Given the description of an element on the screen output the (x, y) to click on. 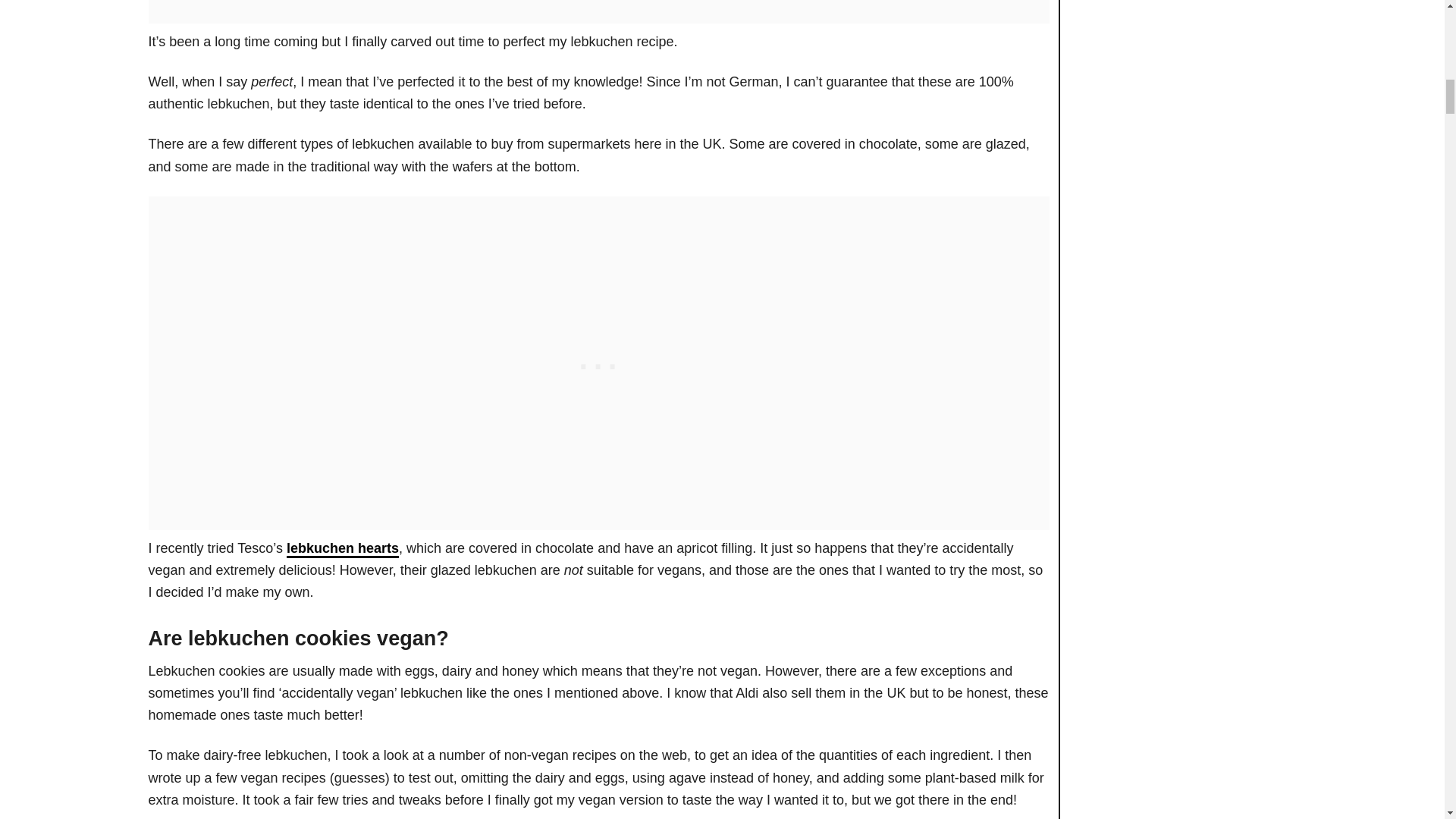
lebkuchen hearts (342, 548)
